Given the description of an element on the screen output the (x, y) to click on. 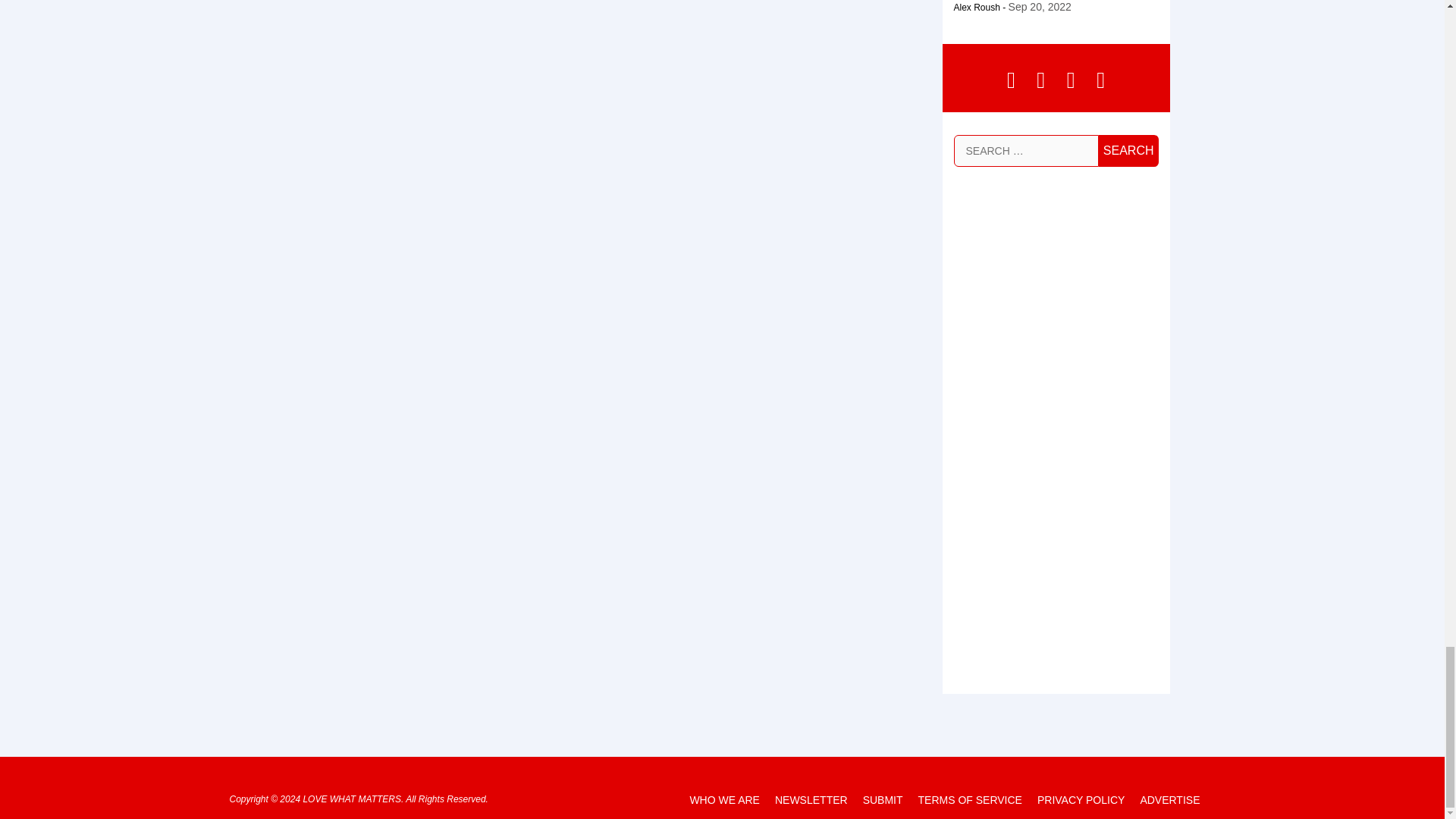
September 20, 2022 (1040, 6)
Search (1128, 151)
Search (1128, 151)
